Given the description of an element on the screen output the (x, y) to click on. 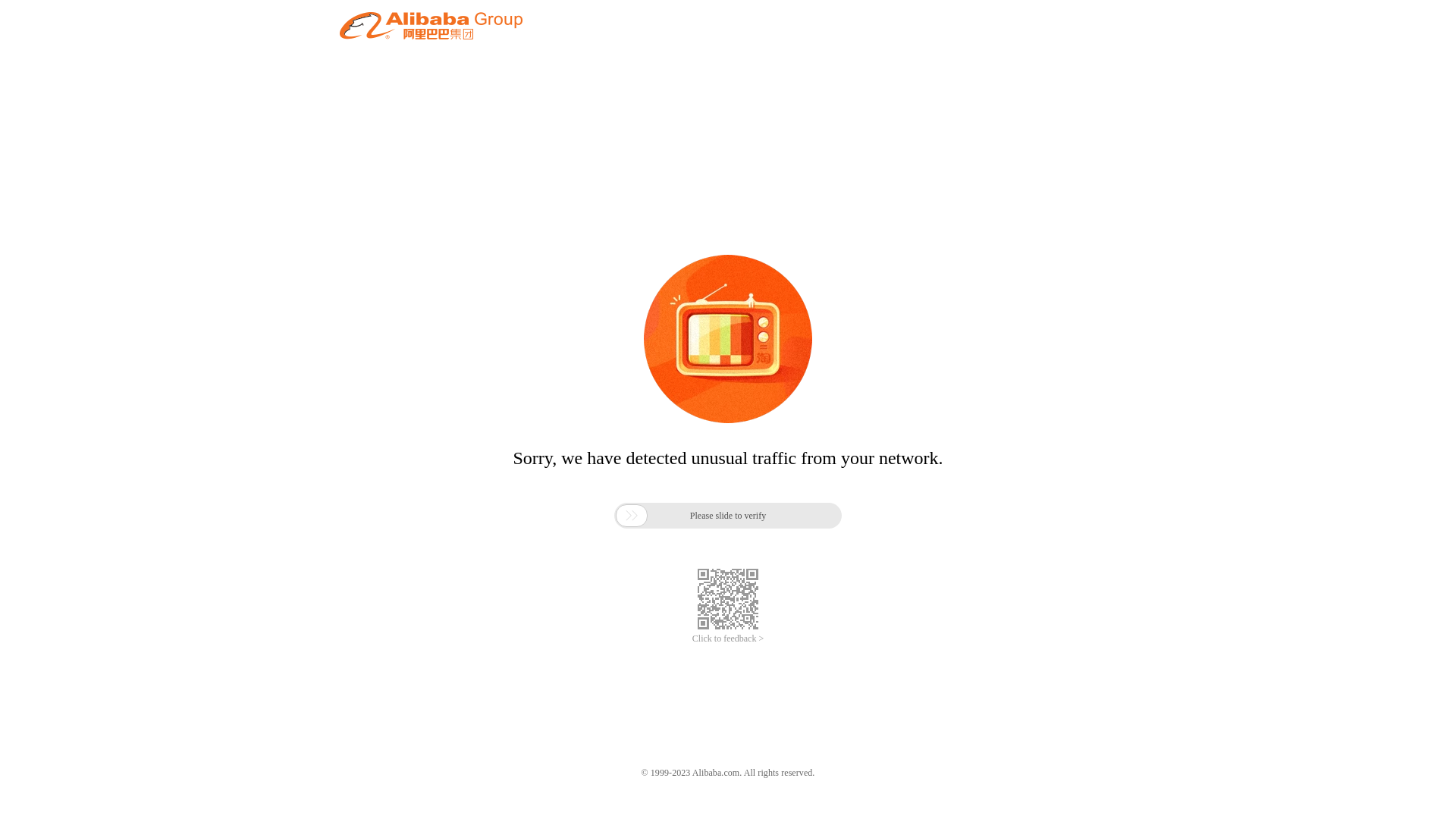
Click to feedback > Element type: text (727, 638)
